Given the description of an element on the screen output the (x, y) to click on. 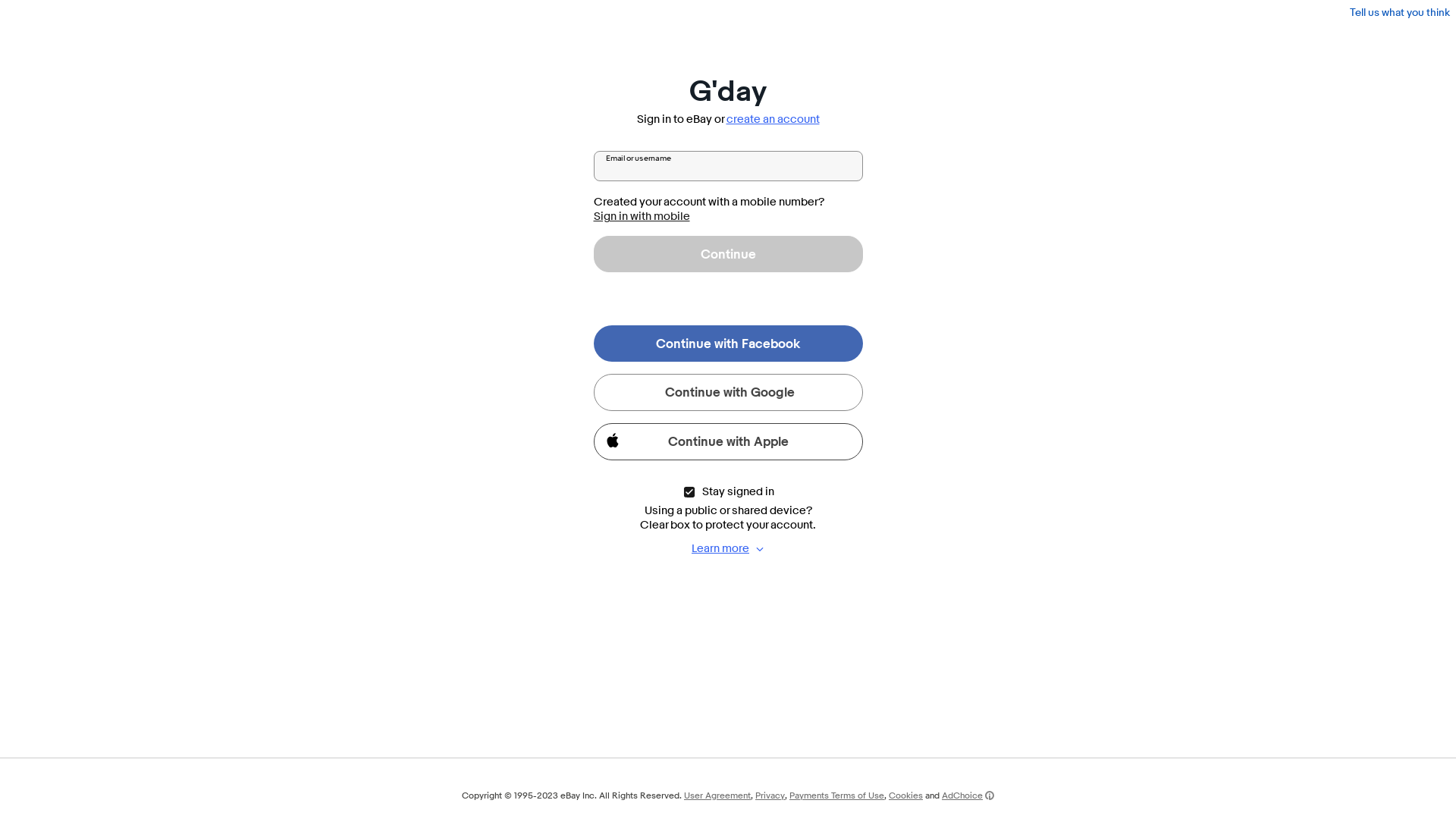
Privacy Element type: text (769, 794)
Continue with Facebook Element type: text (727, 343)
User Agreement Element type: text (717, 794)
Tell us what you think Element type: text (1399, 12)
Cookies Element type: text (905, 794)
create an account Element type: text (772, 119)
Continue with Apple Element type: text (727, 441)
Continue Element type: text (727, 253)
Payments Terms of Use Element type: text (836, 794)
Continue with Google Element type: text (727, 392)
AdChoice Element type: text (967, 794)
Sign in with mobile Element type: text (641, 216)
